Given the description of an element on the screen output the (x, y) to click on. 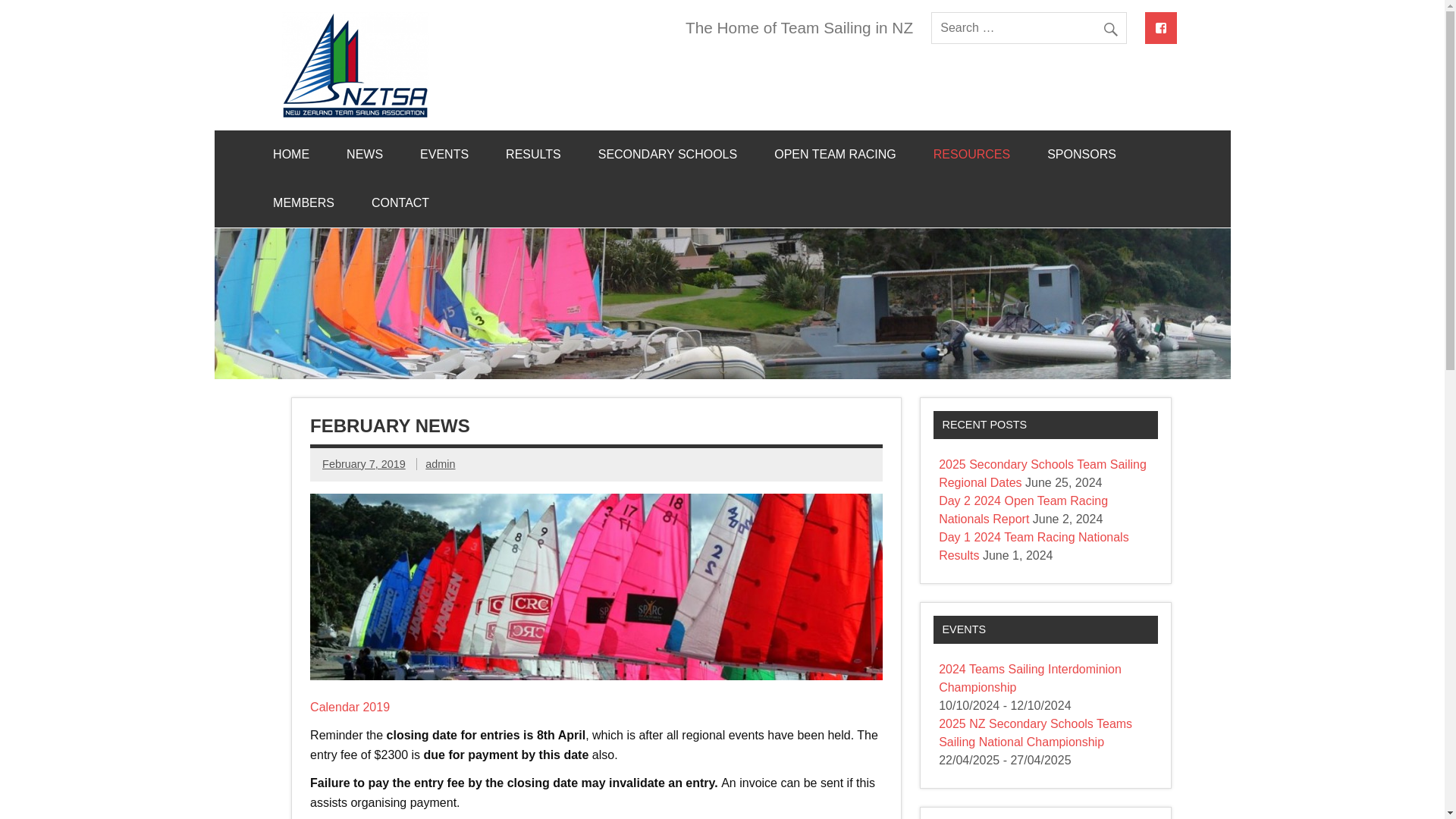
NEWS (365, 154)
2024 Teams Sailing Interdominion Championship (1030, 677)
View all posts by admin (439, 463)
Day 2 2024 Open Team Racing Nationals Report (1023, 509)
2024 Teams Sailing Interdominion Championship (1030, 677)
OPEN TEAM RACING (834, 154)
Day 1 2024 Team Racing Nationals Results (1034, 545)
HOME (290, 154)
SPONSORS (1081, 154)
